Given the description of an element on the screen output the (x, y) to click on. 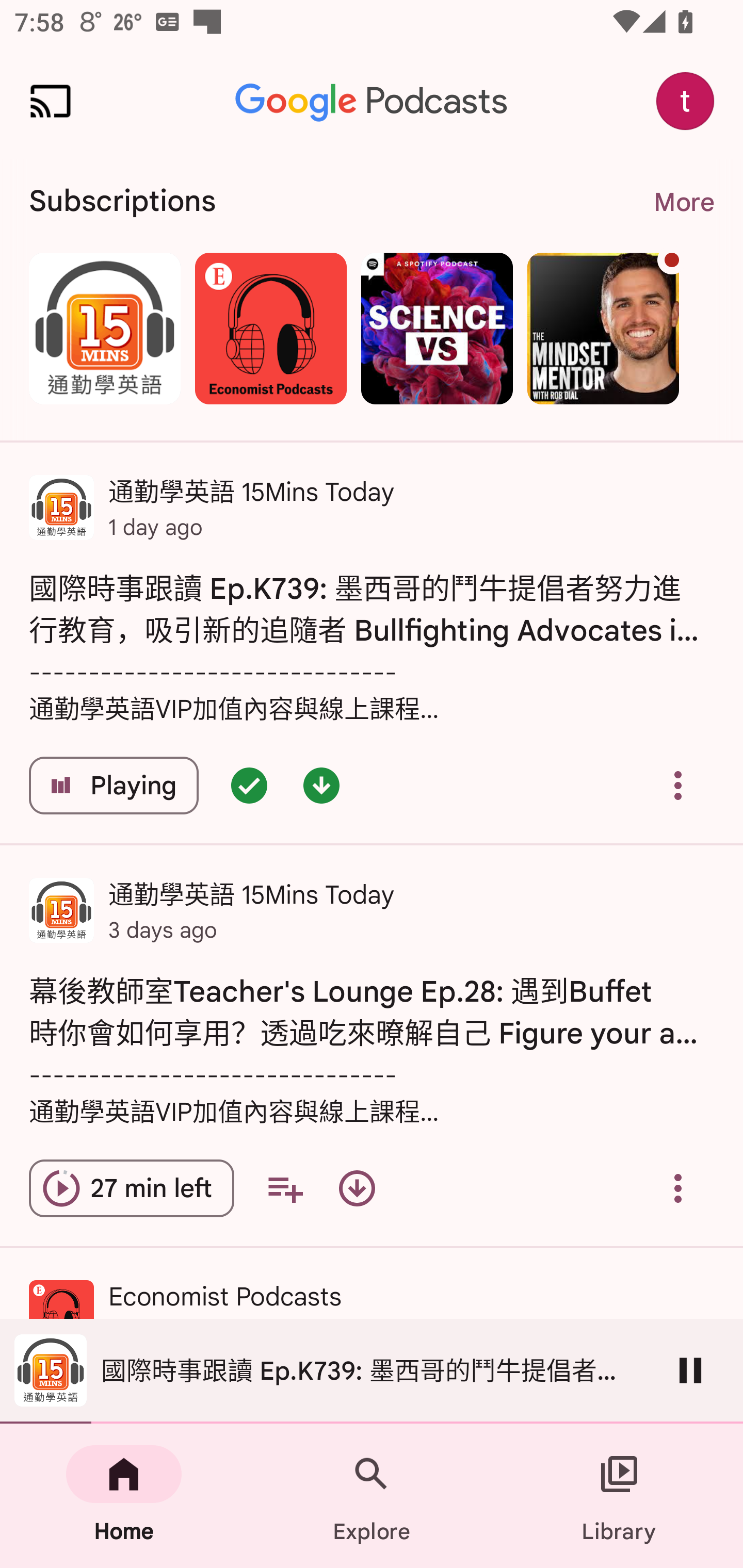
Cast. Disconnected (50, 101)
More More. Navigate to subscriptions page. (683, 202)
通勤學英語 15Mins Today (104, 328)
Economist Podcasts (270, 328)
Science Vs (436, 328)
The Mindset Mentor (603, 328)
Episode queued - double tap for options (249, 785)
Episode downloaded - double tap for options (321, 785)
Overflow menu (677, 785)
Add to your queue (284, 1188)
Download episode (356, 1188)
Overflow menu (677, 1188)
Pause (690, 1370)
Explore (371, 1495)
Library (619, 1495)
